Given the description of an element on the screen output the (x, y) to click on. 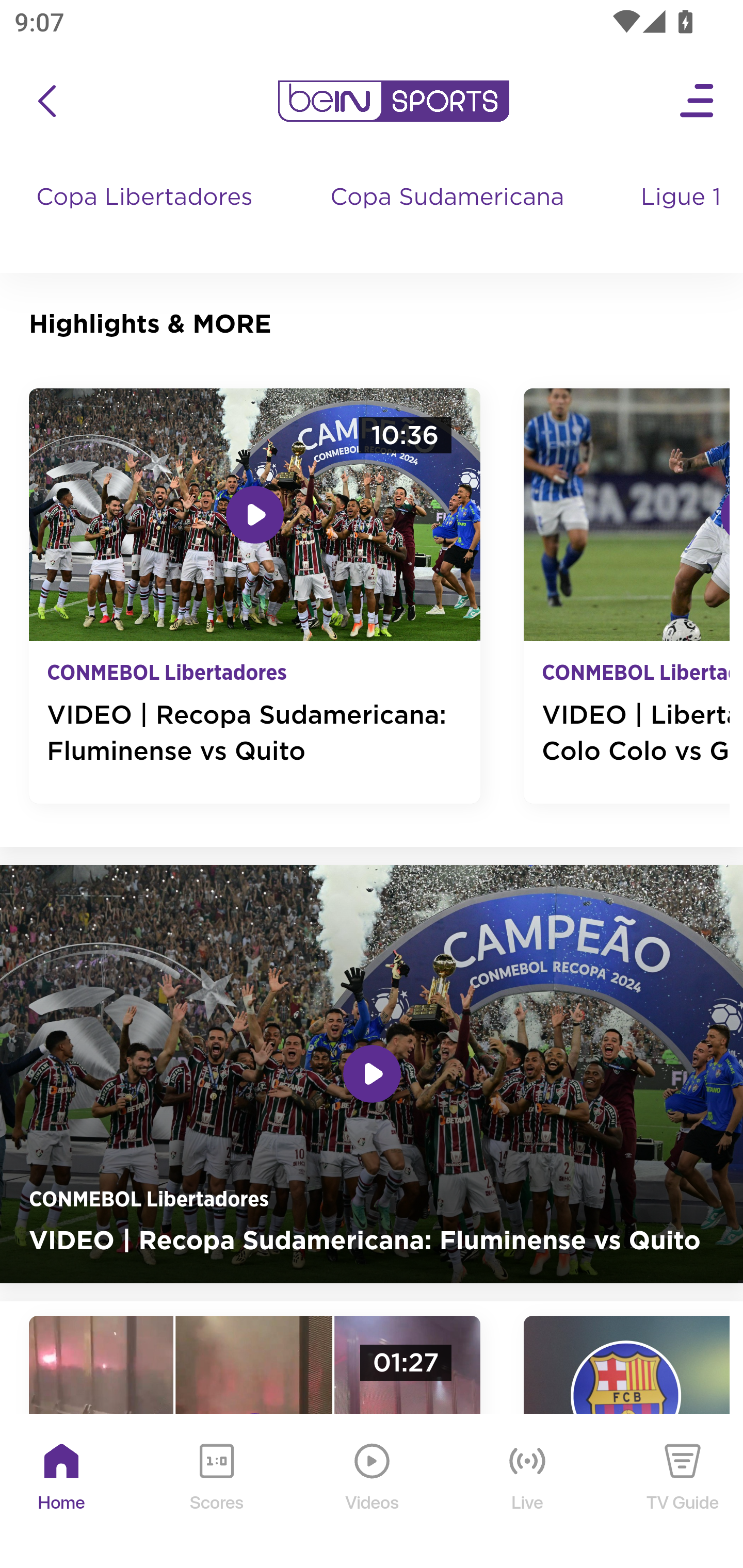
en-us?platform=mobile_android bein logo (392, 101)
icon back (46, 101)
Open Menu Icon (697, 101)
Copa Libertadores (146, 216)
Copa Sudamericana (448, 216)
Ligue 1 (682, 216)
Home Home Icon Home (61, 1491)
Scores Scores Icon Scores (216, 1491)
Videos Videos Icon Videos (372, 1491)
TV Guide TV Guide Icon TV Guide (682, 1491)
